Given the description of an element on the screen output the (x, y) to click on. 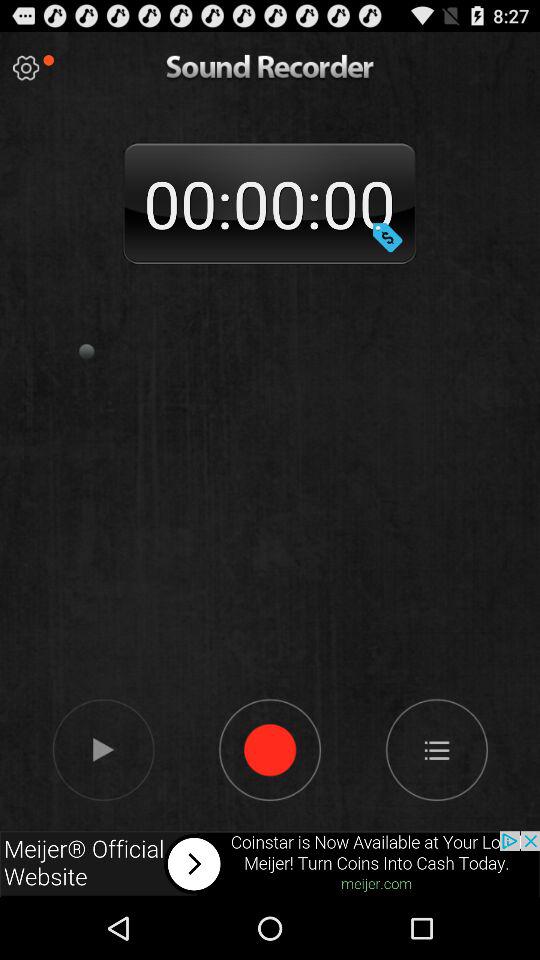
record (269, 749)
